Given the description of an element on the screen output the (x, y) to click on. 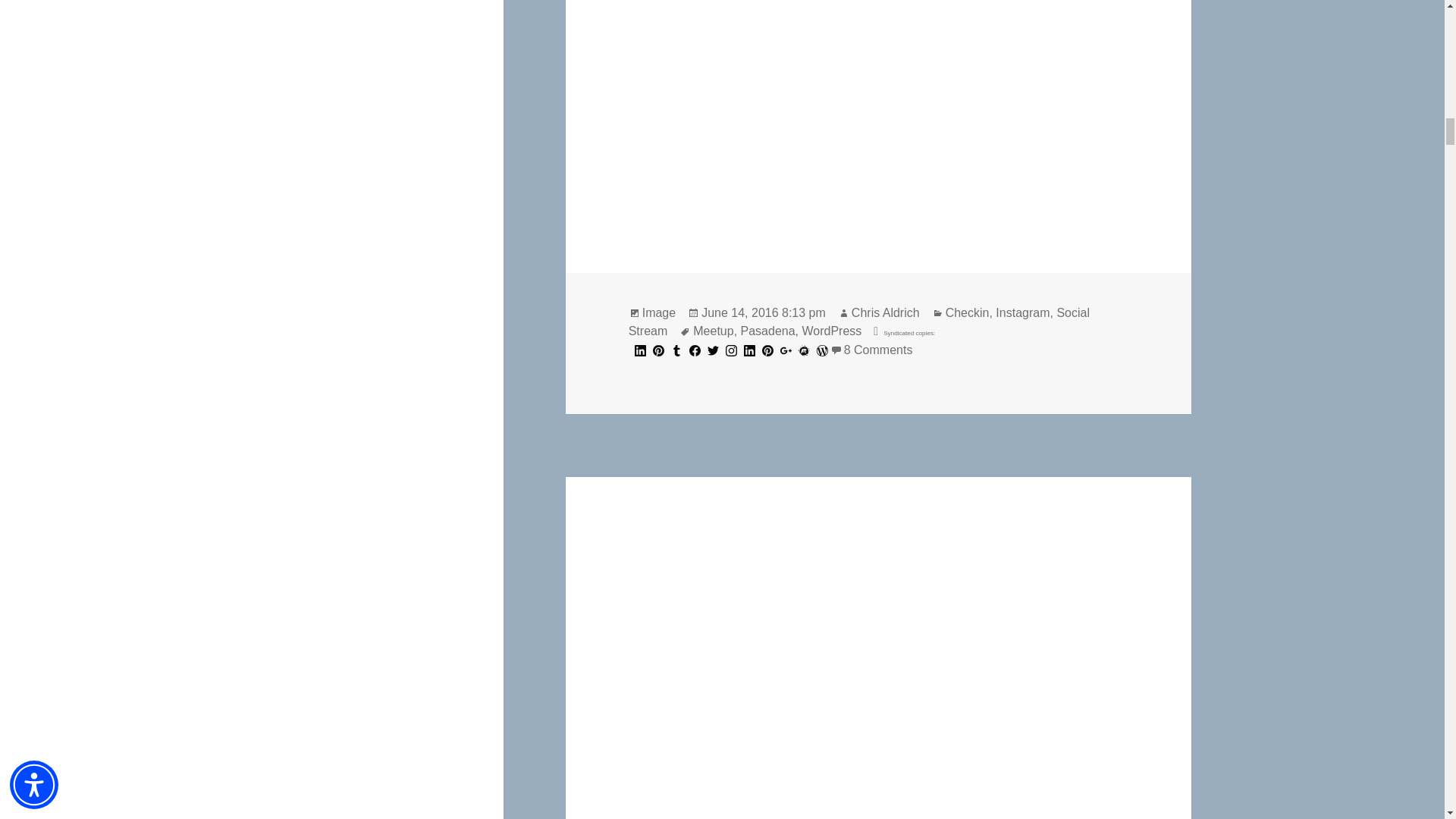
Instagram (730, 350)
Pinterest (657, 350)
Pinterest (767, 350)
WordPress (822, 350)
Tumblr (676, 350)
Meetup (803, 350)
LinkedIn (640, 350)
Twitter (713, 350)
Facebook (694, 350)
LinkedIn (749, 350)
